Given the description of an element on the screen output the (x, y) to click on. 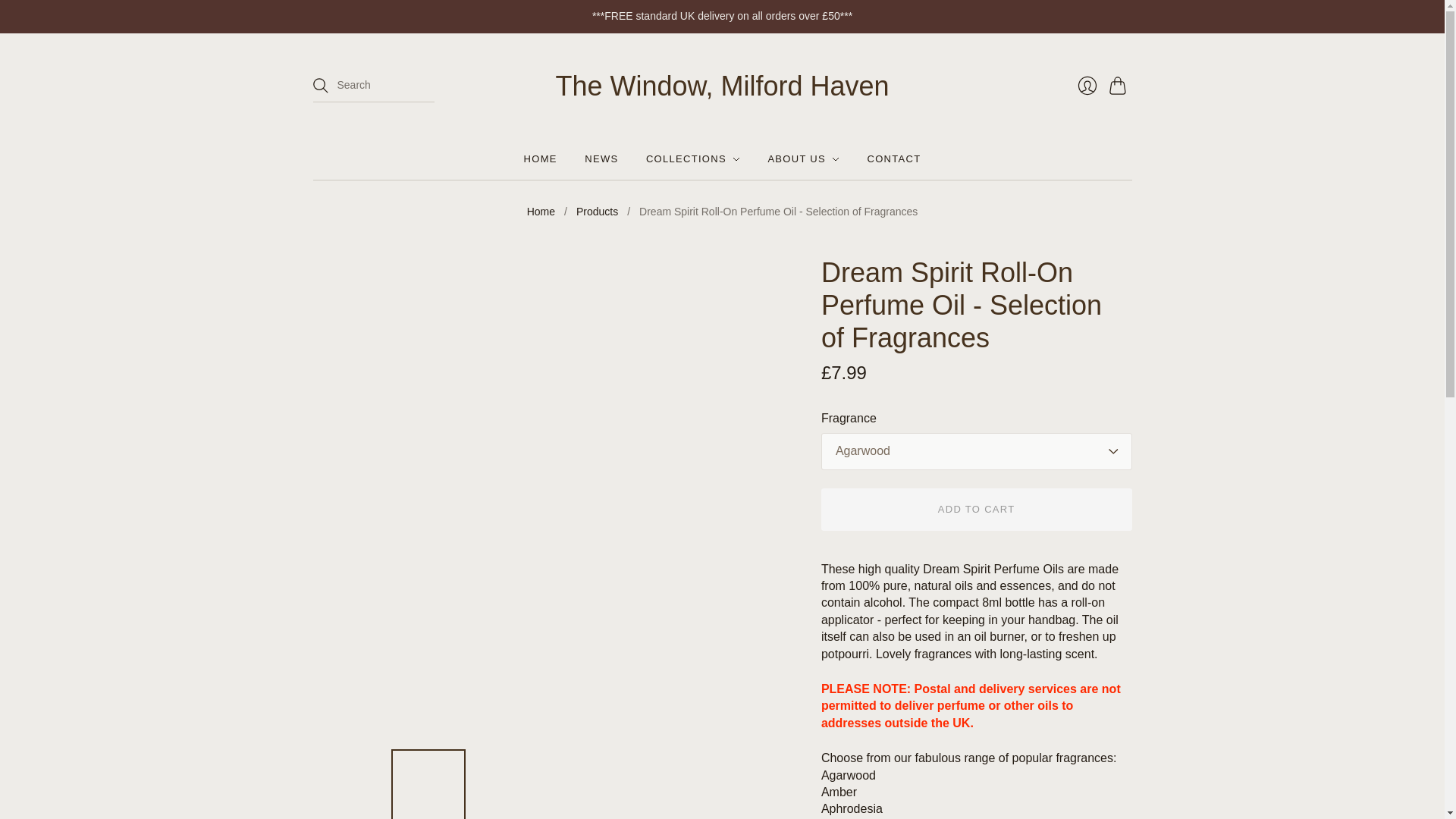
Cart (1119, 85)
HOME (540, 158)
NEWS (601, 158)
Login (1086, 85)
COLLECTIONS (692, 158)
The Window, Milford Haven (721, 85)
